Given the description of an element on the screen output the (x, y) to click on. 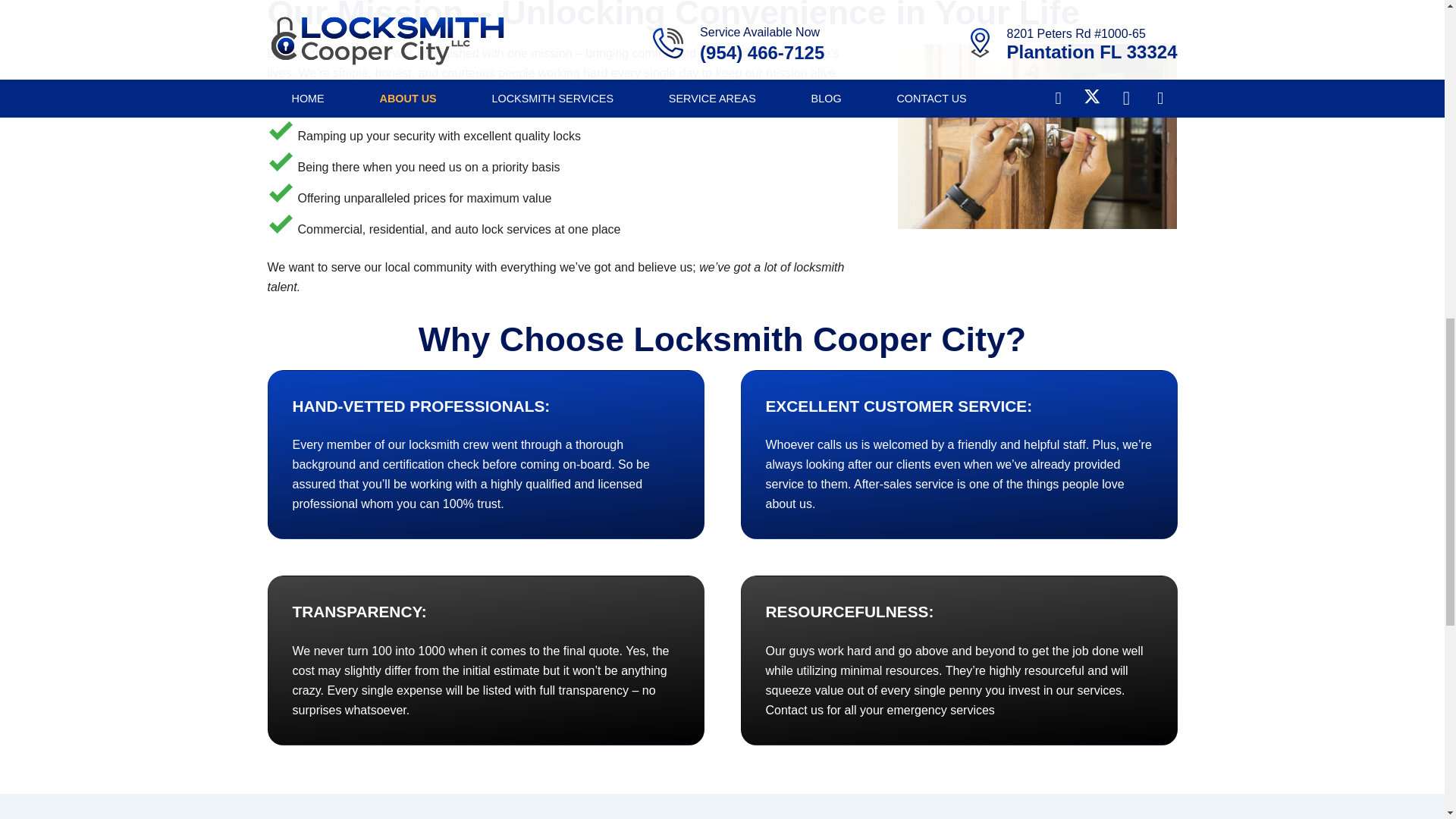
Back to top (1413, 26)
